Given the description of an element on the screen output the (x, y) to click on. 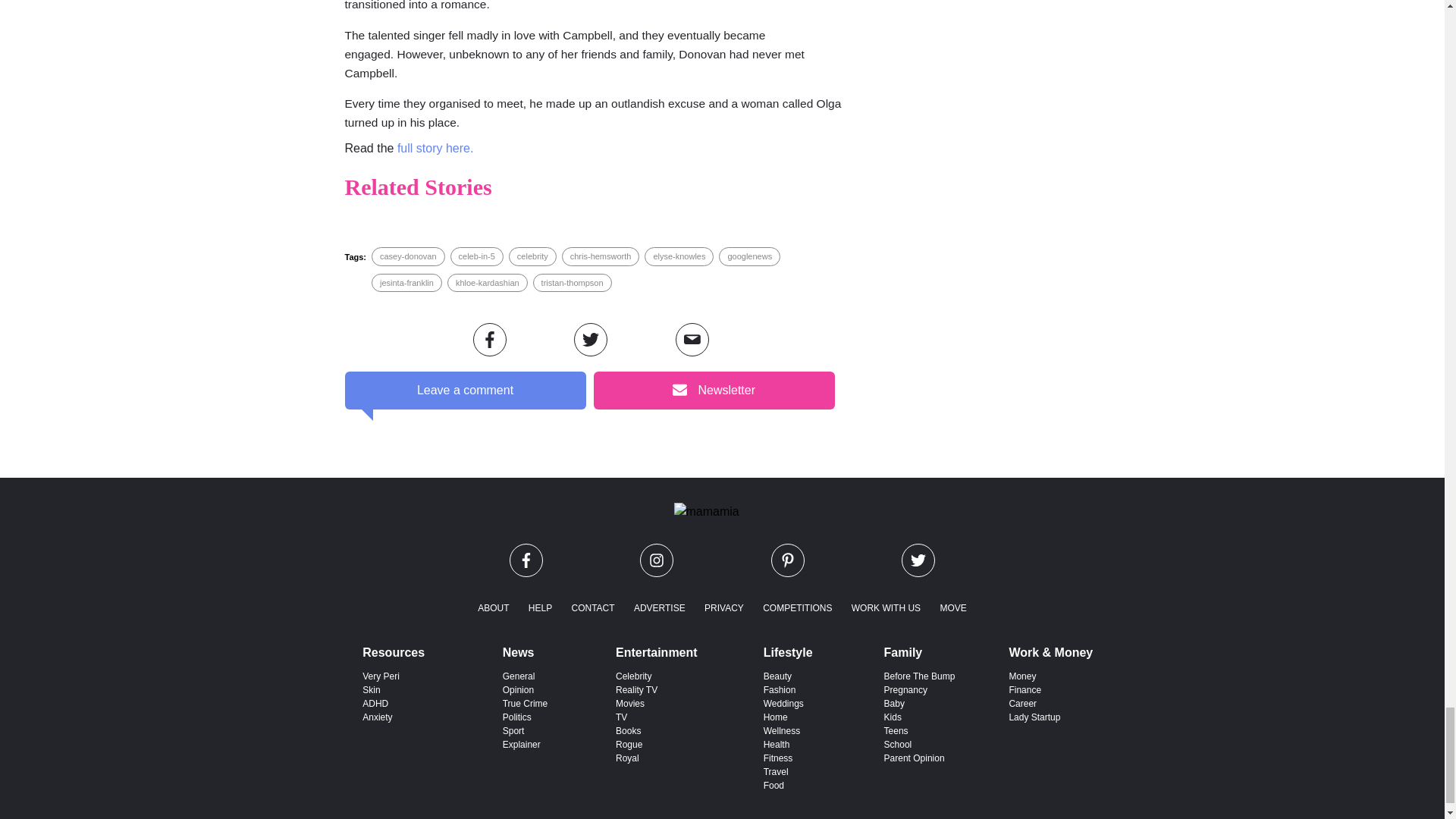
googlenews (748, 256)
khloe-kardashian (487, 282)
casey-donovan (408, 256)
jesinta-franklin (406, 282)
celeb-in-5 (476, 256)
celebrity (532, 256)
chris-hemsworth (600, 256)
elyse-knowles (678, 256)
full story here.  (437, 147)
